Given the description of an element on the screen output the (x, y) to click on. 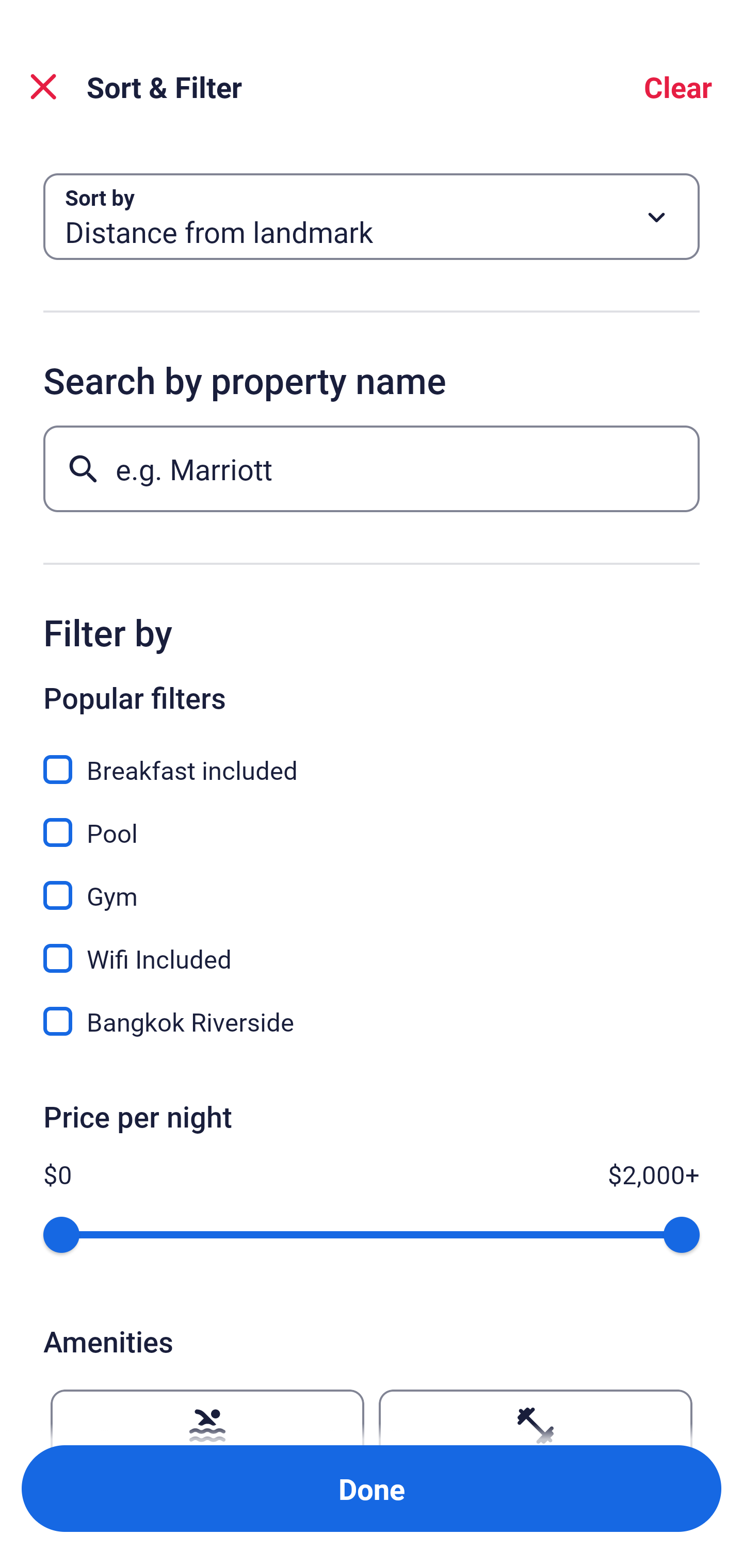
Close Sort and Filter (43, 86)
Clear (677, 86)
Sort by Button Distance from landmark (371, 217)
e.g. Marriott Button (371, 468)
Breakfast included, Breakfast included (371, 757)
Pool, Pool (371, 821)
Gym, Gym (371, 883)
Wifi Included, Wifi Included (371, 946)
Bangkok Riverside, Bangkok Riverside (371, 1021)
Apply and close Sort and Filter Done (371, 1488)
